Given the description of an element on the screen output the (x, y) to click on. 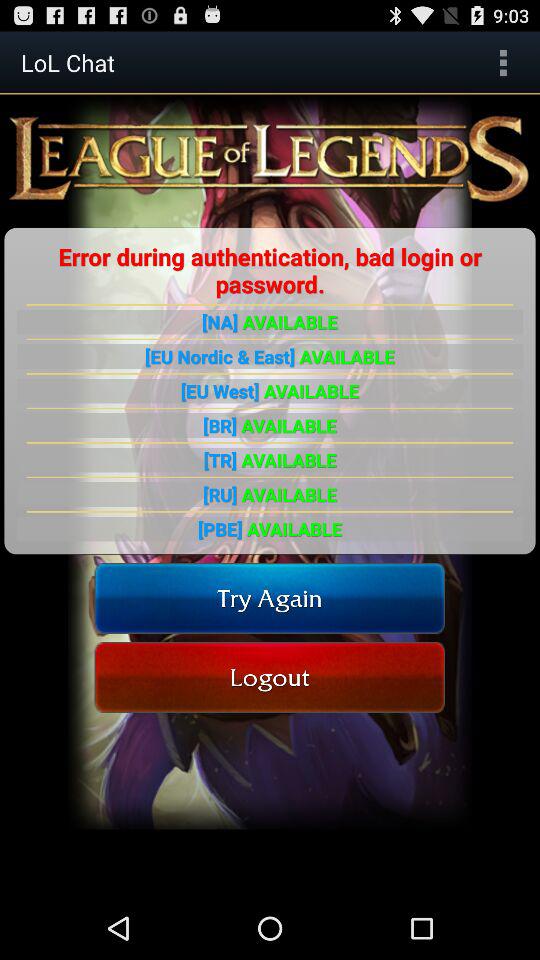
turn on the item above logout button (269, 597)
